Given the description of an element on the screen output the (x, y) to click on. 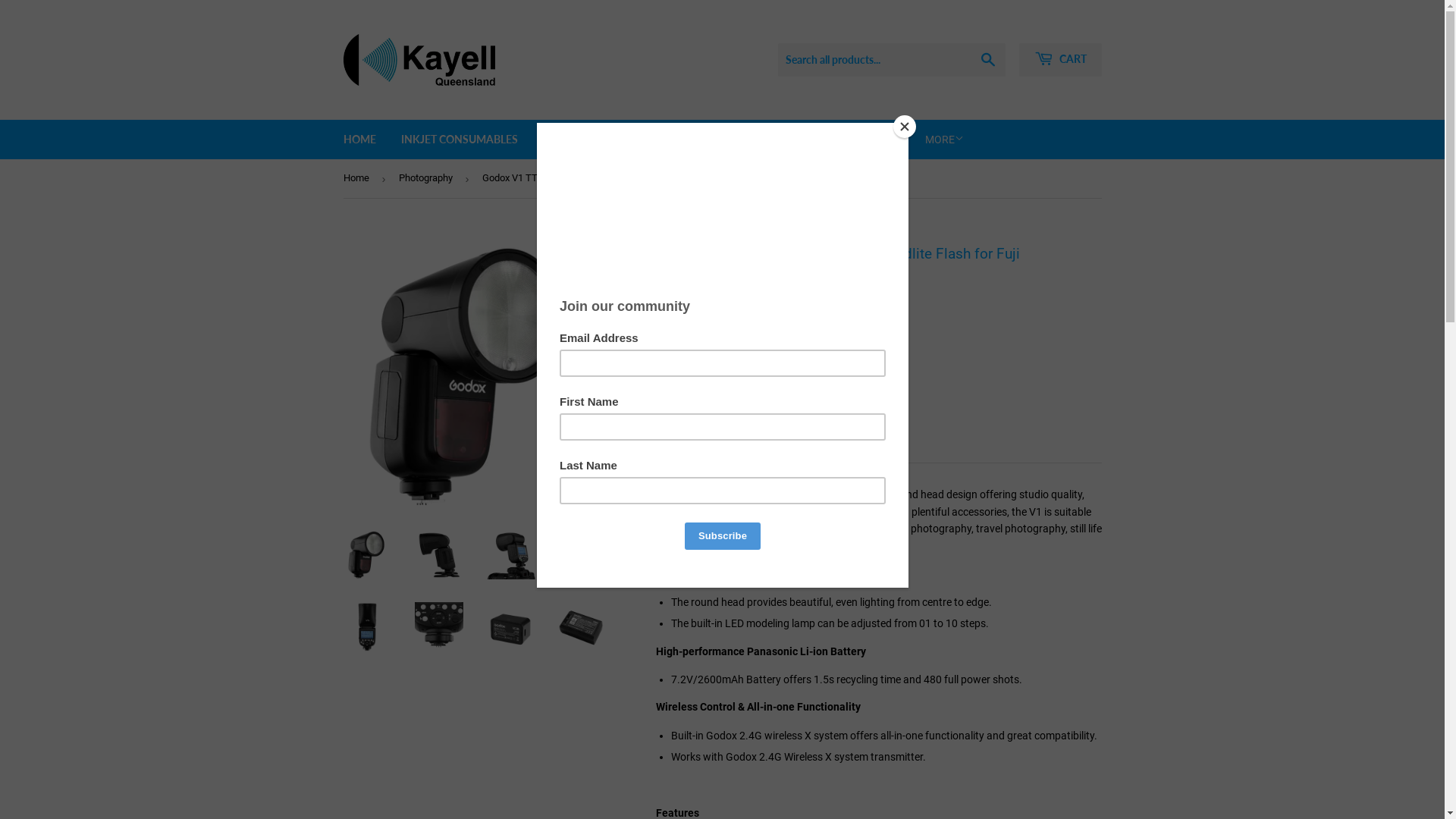
INKJET CONSUMABLES Element type: text (459, 139)
PHOTOGRAPHY Element type: text (708, 139)
FILM Element type: text (787, 139)
STUDIO & LIGHTING Element type: text (592, 139)
Search Element type: text (987, 60)
CAMERA BAGS Element type: text (861, 139)
Home Element type: text (357, 178)
MORE Element type: text (943, 139)
ADD TO CART Element type: text (718, 422)
Photography Element type: text (428, 178)
HOME Element type: text (359, 139)
CART Element type: text (1060, 59)
Shipping Element type: text (738, 309)
